Given the description of an element on the screen output the (x, y) to click on. 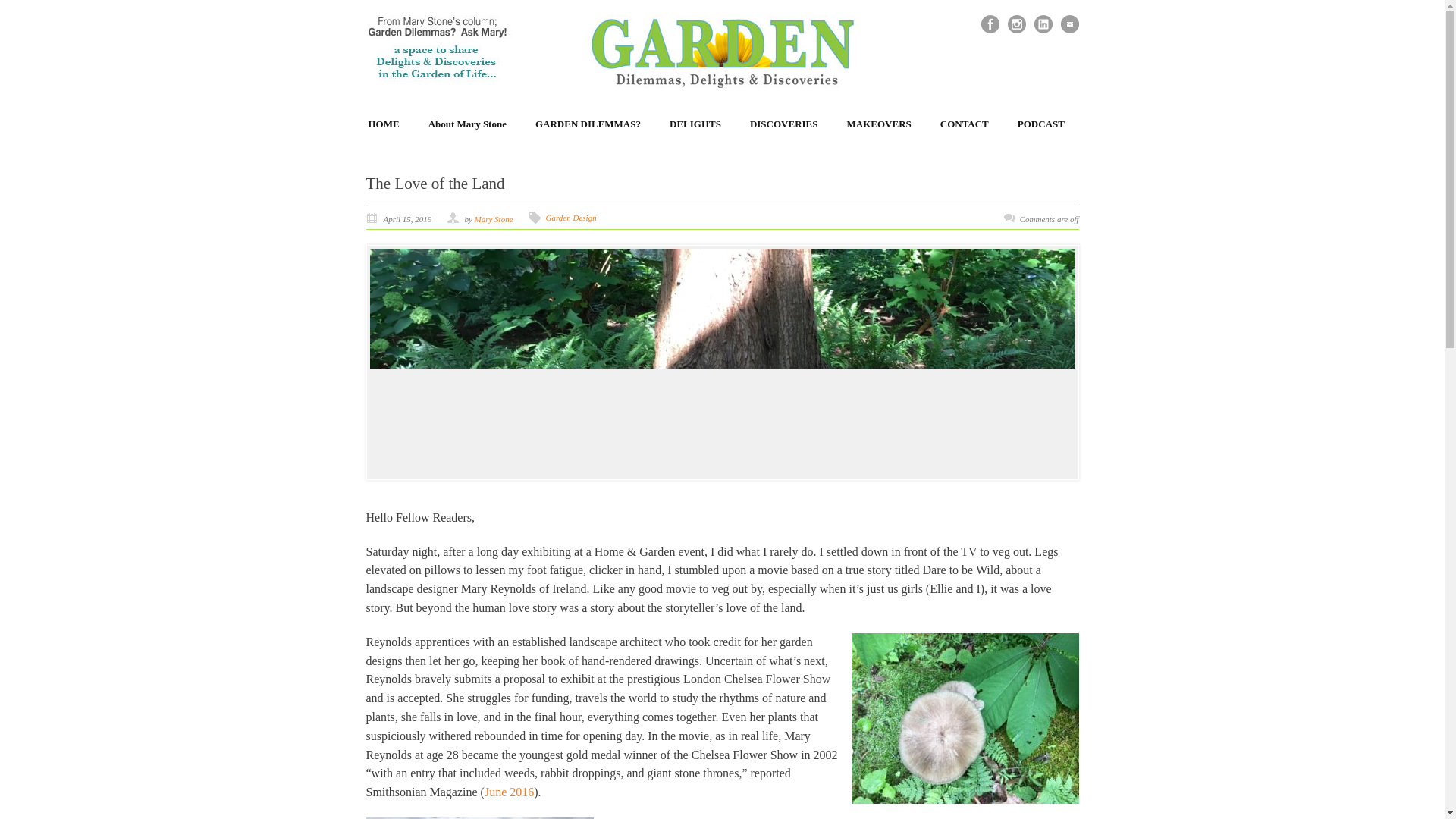
MAKEOVERS (879, 124)
CONTACT (964, 124)
Garden Design (571, 216)
About Mary Stone (467, 124)
PODCAST (1040, 124)
DISCOVERIES (783, 124)
The Love of the Land (434, 183)
HOME (384, 124)
GARDEN DILEMMAS? (588, 124)
DELIGHTS (695, 124)
June 2016 (509, 791)
Mary Stone (493, 218)
